Given the description of an element on the screen output the (x, y) to click on. 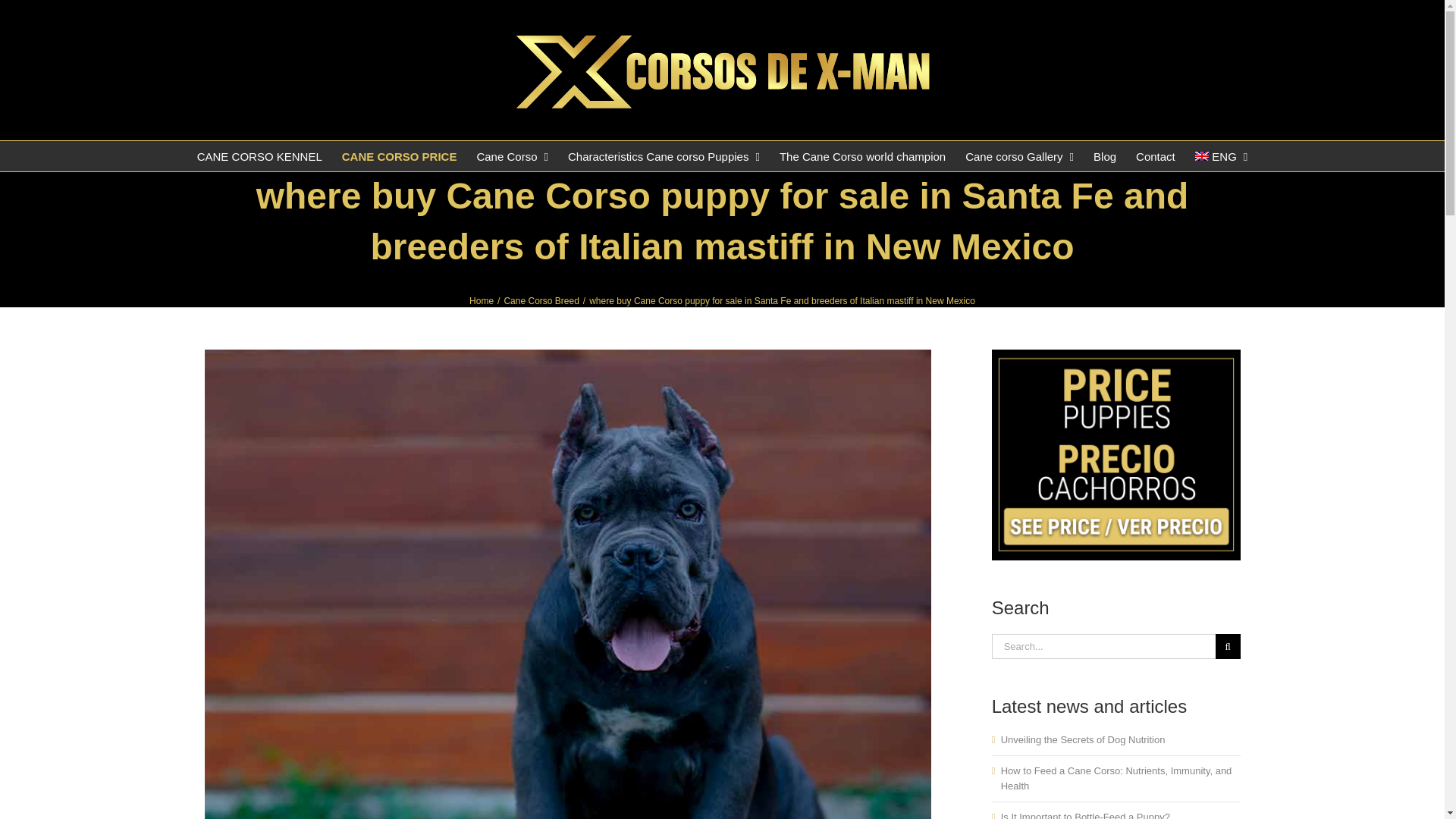
Blog (1104, 155)
Cane corso Gallery (1019, 155)
The best cane corso in the world (862, 155)
The Cane Corso world champion (862, 155)
CANE CORSO KENNEL (259, 155)
Cane corso Gallery (1019, 155)
Cane Corso kennel (259, 155)
Blog cane corso (1104, 155)
Characteristics Cane corso Puppies (663, 155)
Cane corso Price dog and puppies (399, 155)
